Given the description of an element on the screen output the (x, y) to click on. 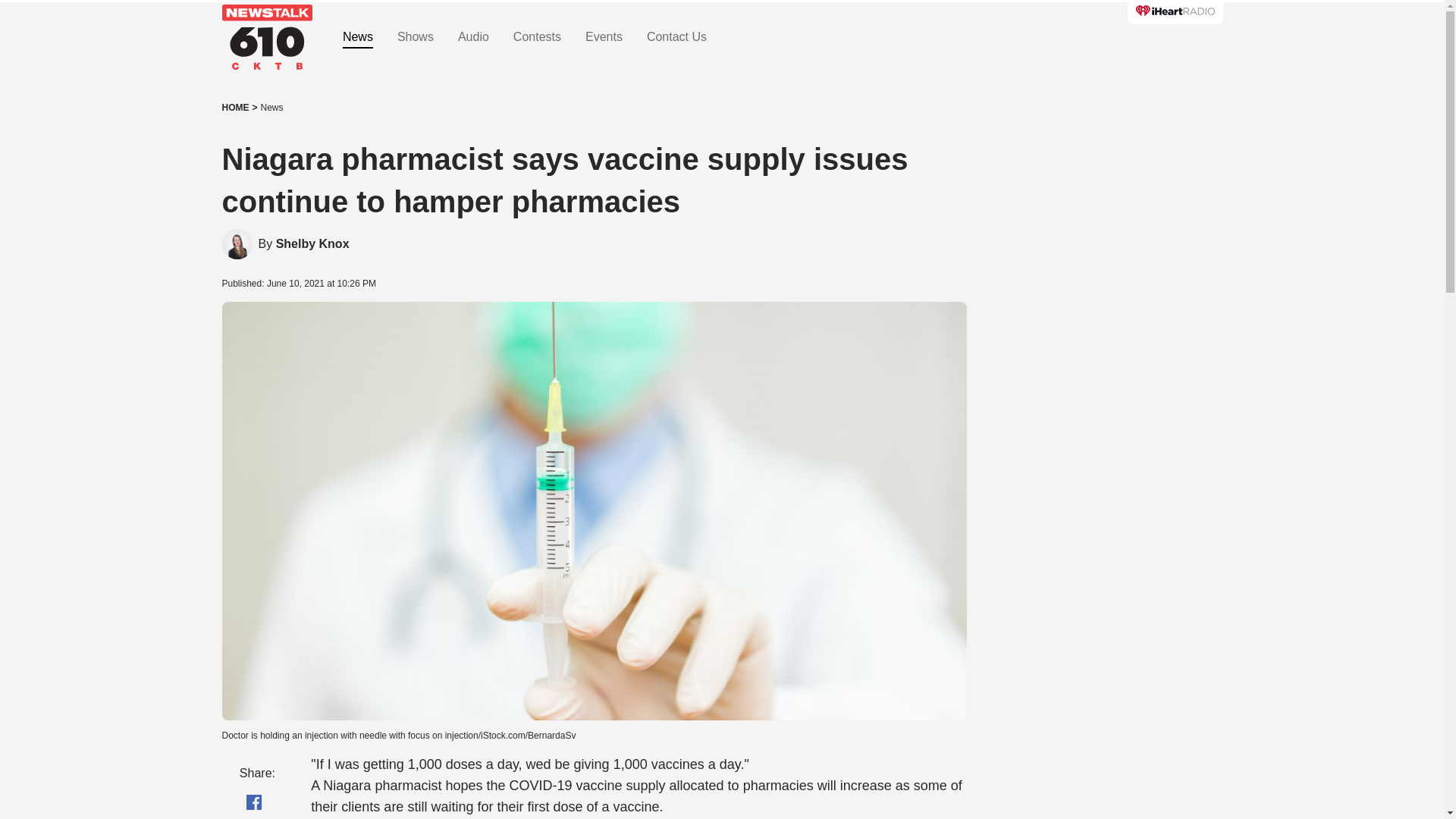
Contests (536, 37)
News (271, 107)
Shelby Knox (236, 244)
Shelby Knox (312, 243)
Contact Us (676, 37)
HOME (234, 107)
Shelby Knox (312, 243)
